Given the description of an element on the screen output the (x, y) to click on. 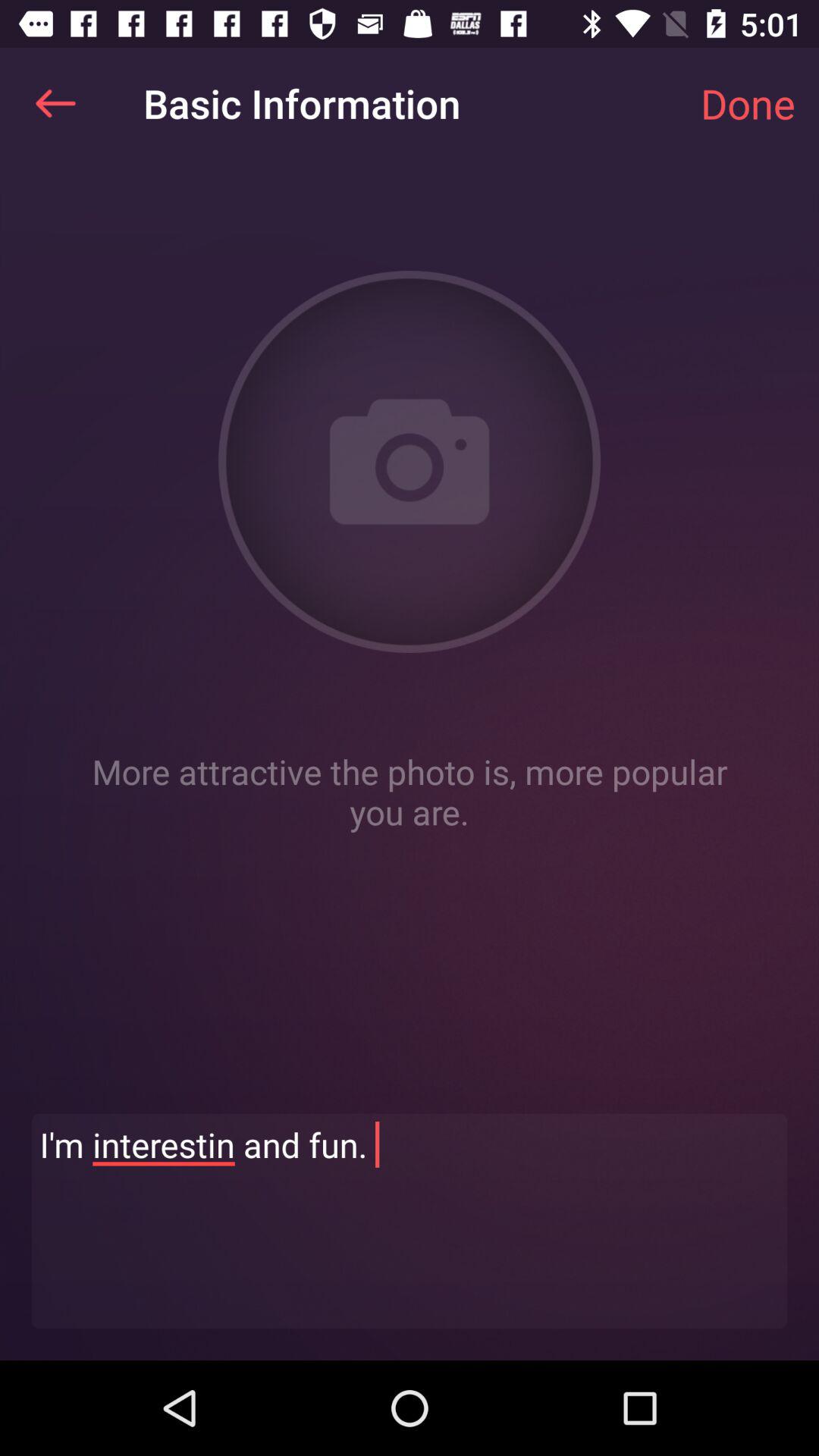
open the app to the left of the basic information (55, 103)
